Given the description of an element on the screen output the (x, y) to click on. 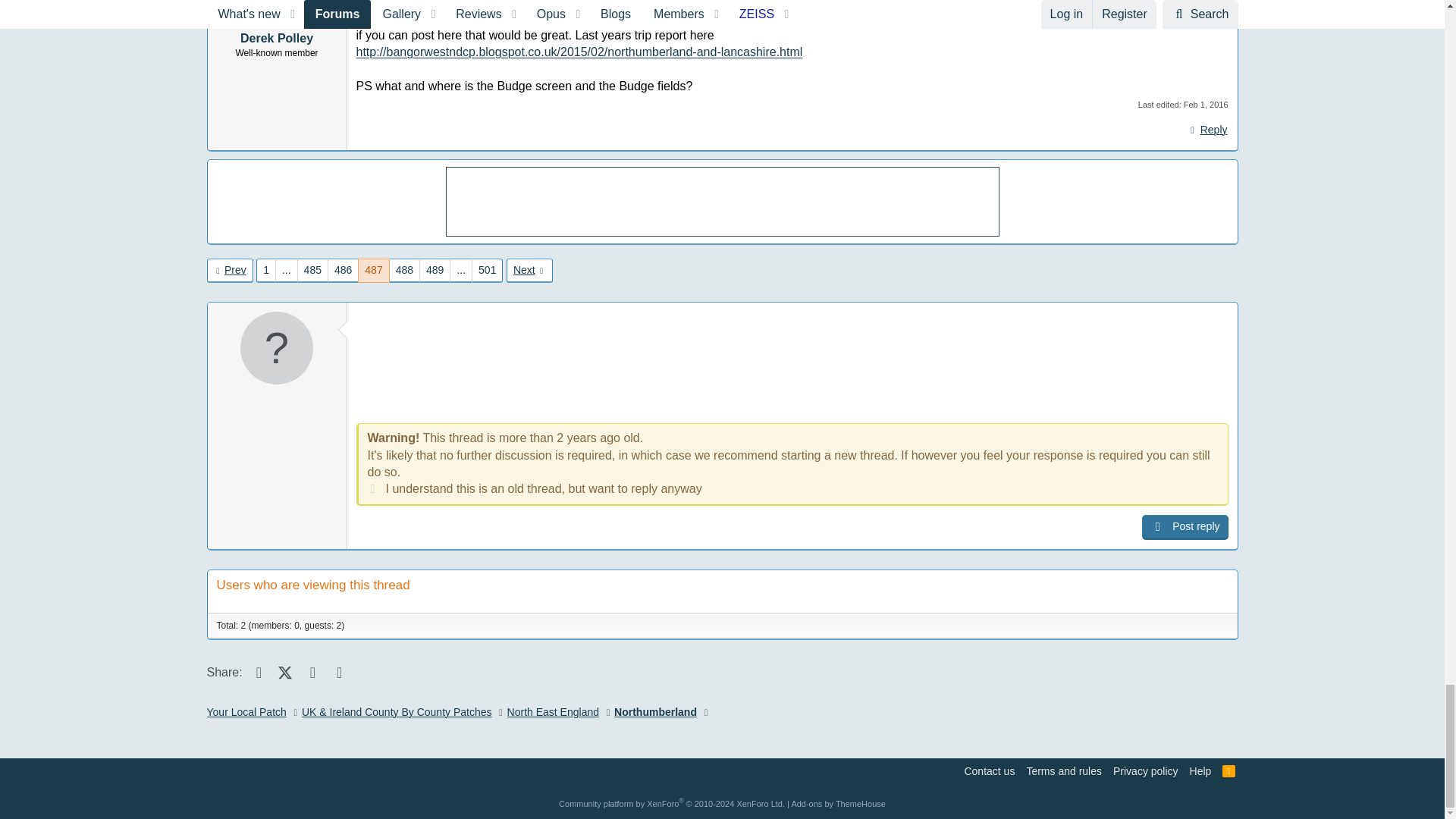
1 (371, 484)
